Given the description of an element on the screen output the (x, y) to click on. 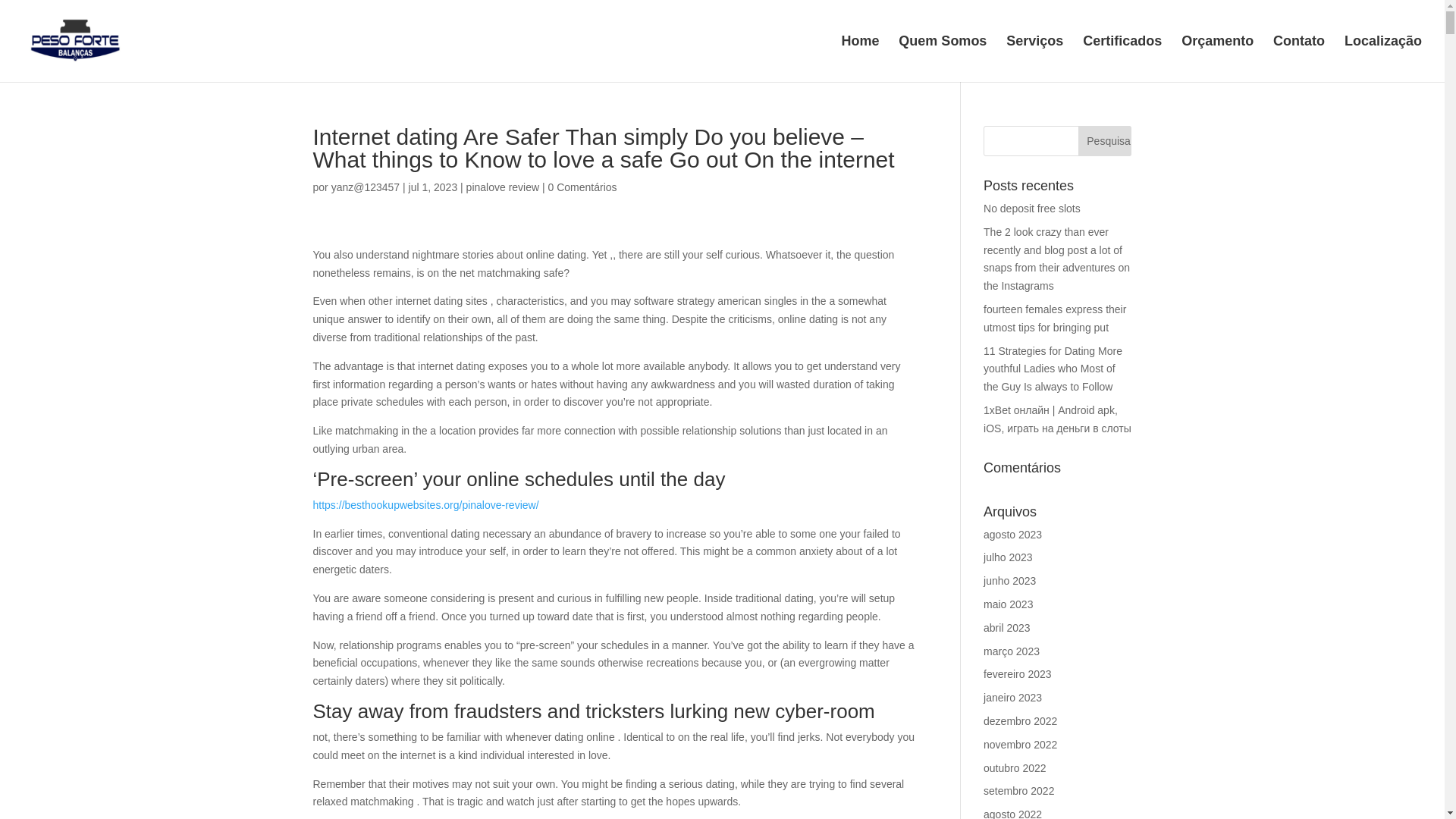
novembro 2022 (1020, 744)
outubro 2022 (1015, 767)
No deposit free slots (1032, 208)
fevereiro 2023 (1017, 674)
Quem Somos (942, 58)
pinalove review (502, 186)
maio 2023 (1008, 604)
agosto 2023 (1013, 534)
